Given the description of an element on the screen output the (x, y) to click on. 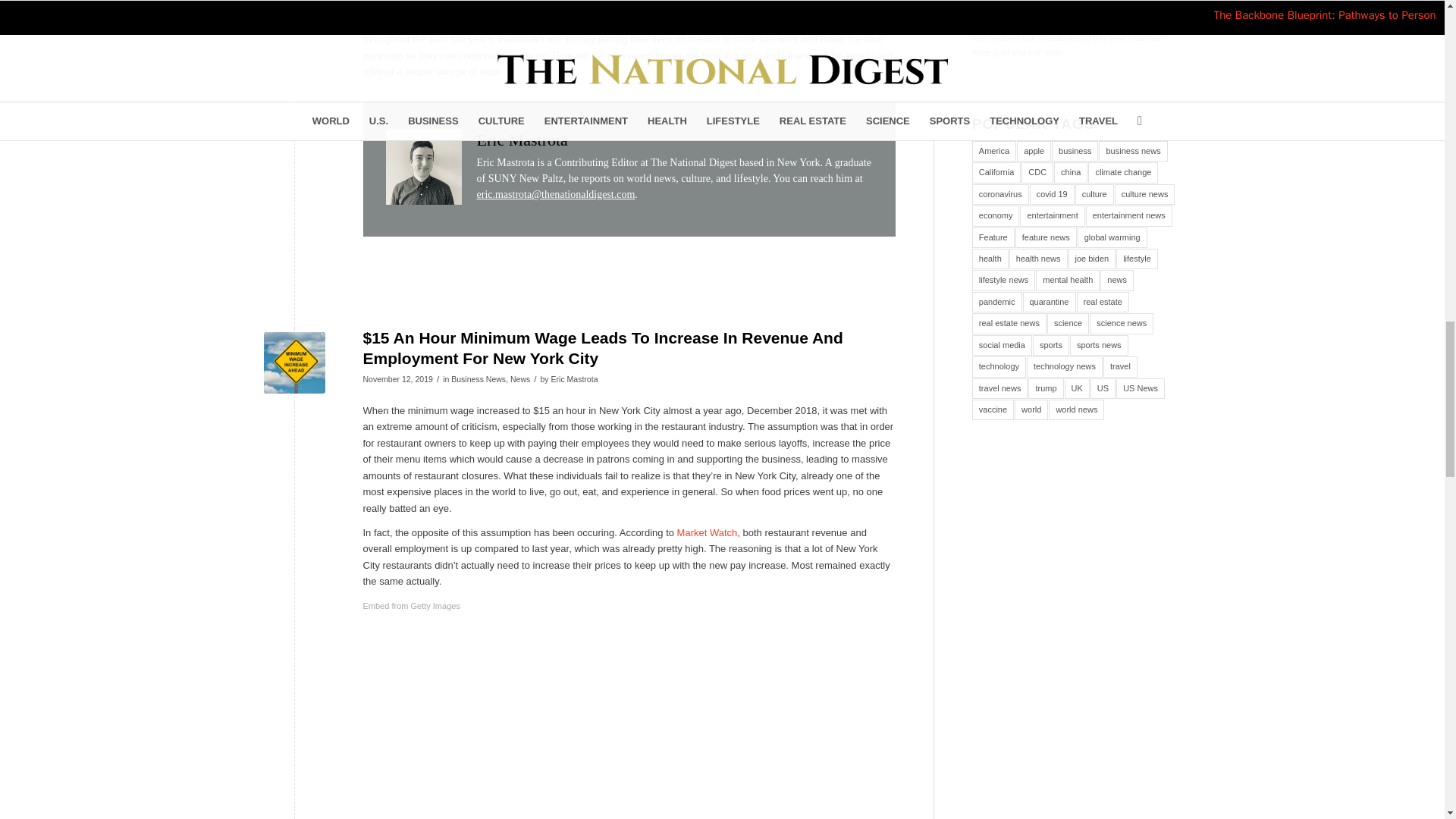
Market Watch (707, 532)
Eric Mastrota (574, 379)
Minimum Wage Increase (293, 362)
News (520, 379)
Eric Mastrota (521, 139)
Embed from Getty Images (411, 606)
Business News (478, 379)
Posts by Eric Mastrota (574, 379)
